Given the description of an element on the screen output the (x, y) to click on. 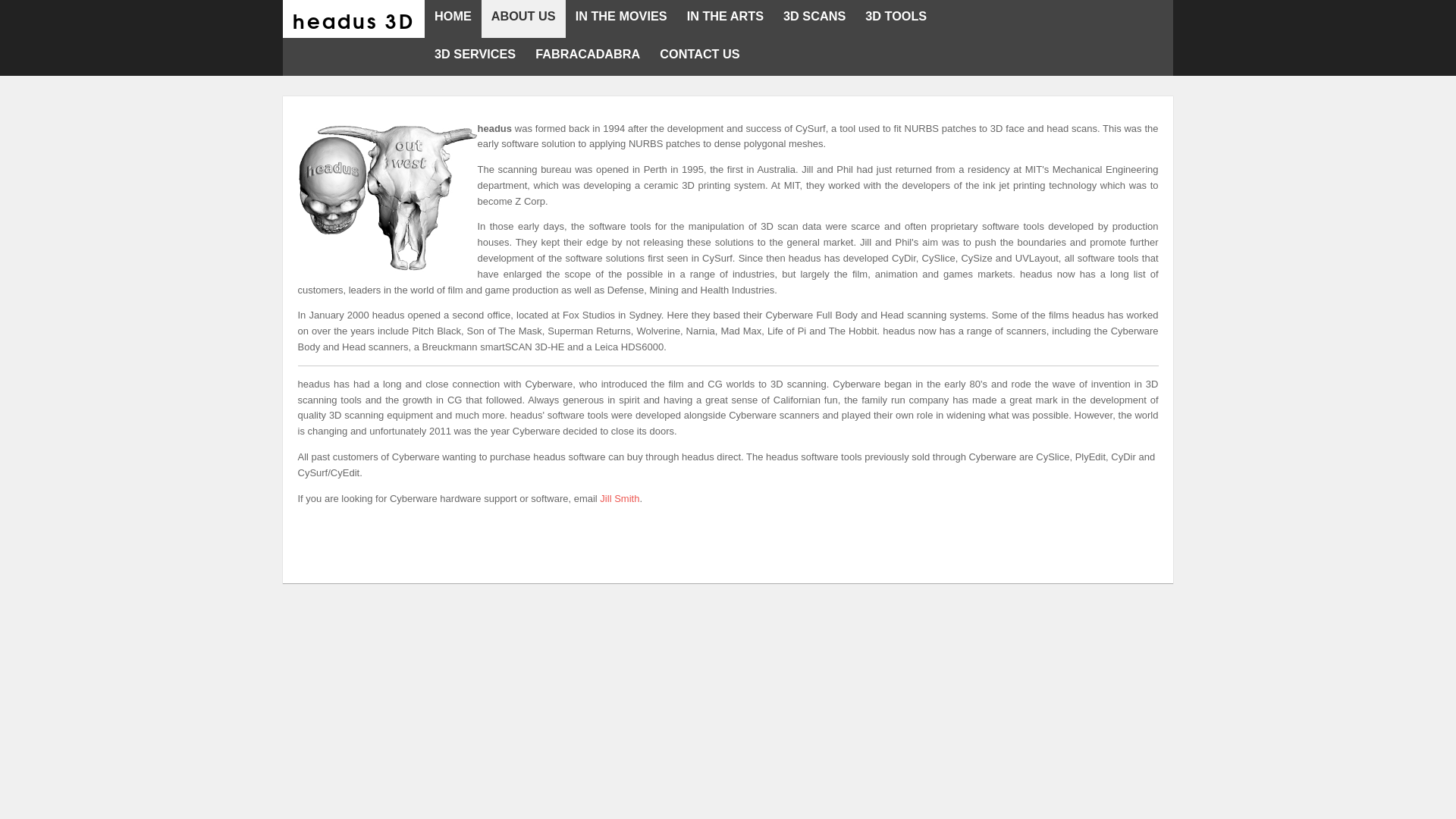
3D SERVICES Element type: text (474, 58)
CONTACT US Element type: text (699, 58)
HOME Element type: text (452, 20)
IN THE ARTS Element type: text (725, 20)
3D SCANS Element type: text (814, 20)
3D TOOLS Element type: text (895, 20)
ABOUT US Element type: text (523, 20)
FABRACADABRA Element type: text (587, 58)
IN THE MOVIES Element type: text (621, 20)
headus 3D Element type: text (353, 19)
Jill Smith Element type: text (619, 498)
